Given the description of an element on the screen output the (x, y) to click on. 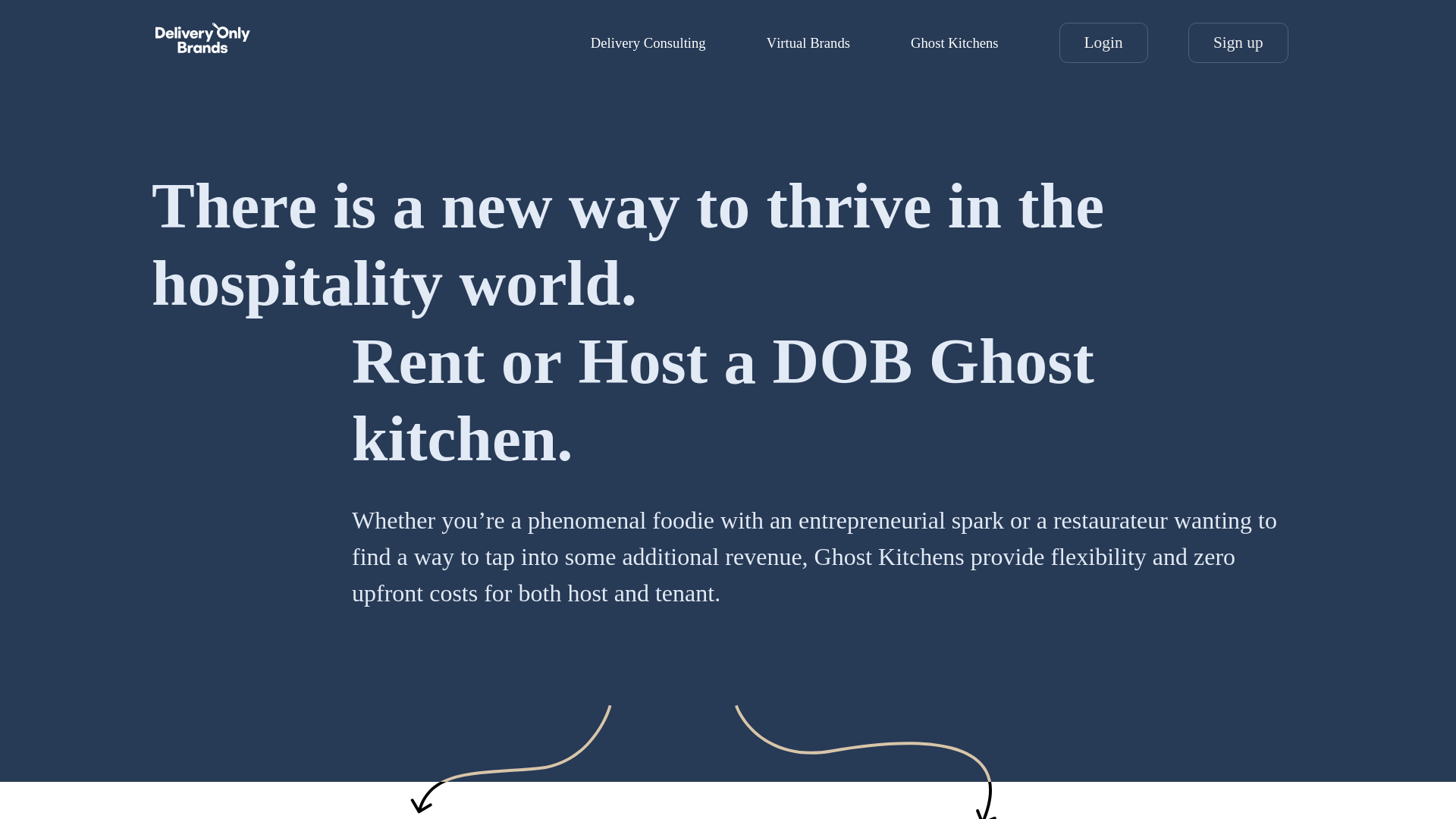
Ghost Kitchens (954, 42)
Login (1103, 42)
Sign up (1238, 42)
Virtual Brands (808, 42)
Delivery Consulting (648, 42)
